Given the description of an element on the screen output the (x, y) to click on. 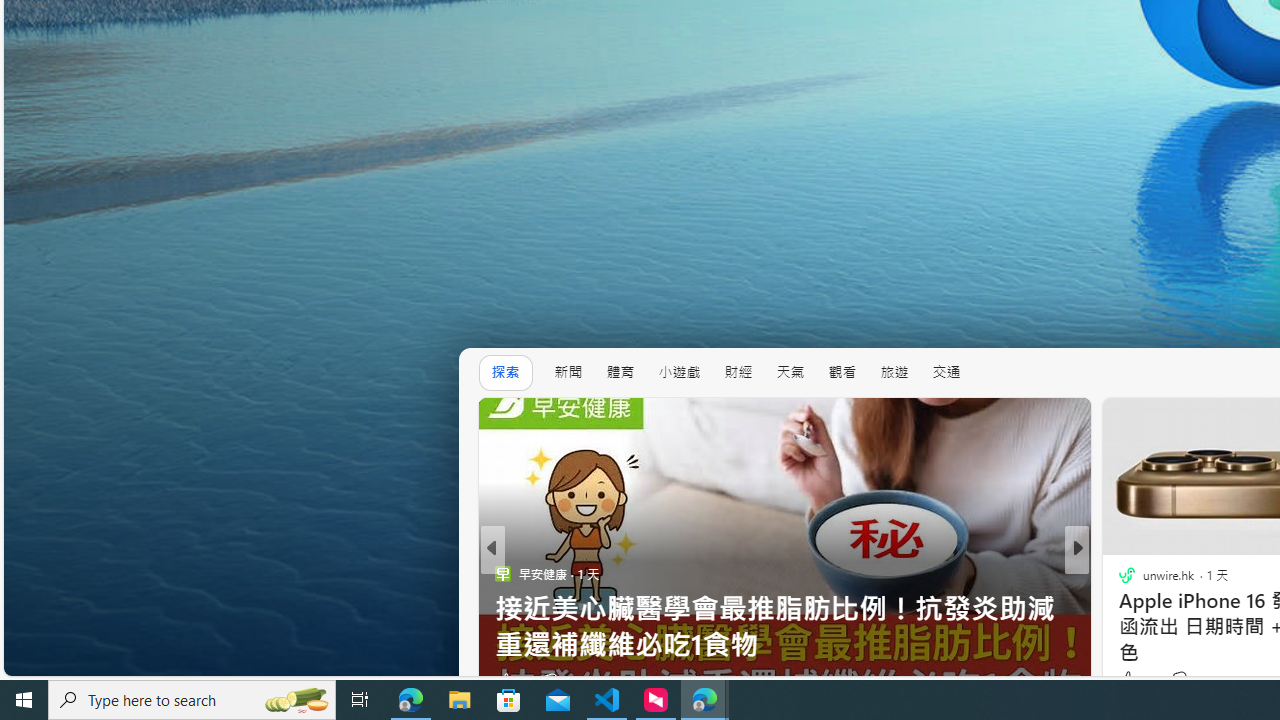
unwire.hk (502, 573)
FiNET (1117, 573)
